Given the description of an element on the screen output the (x, y) to click on. 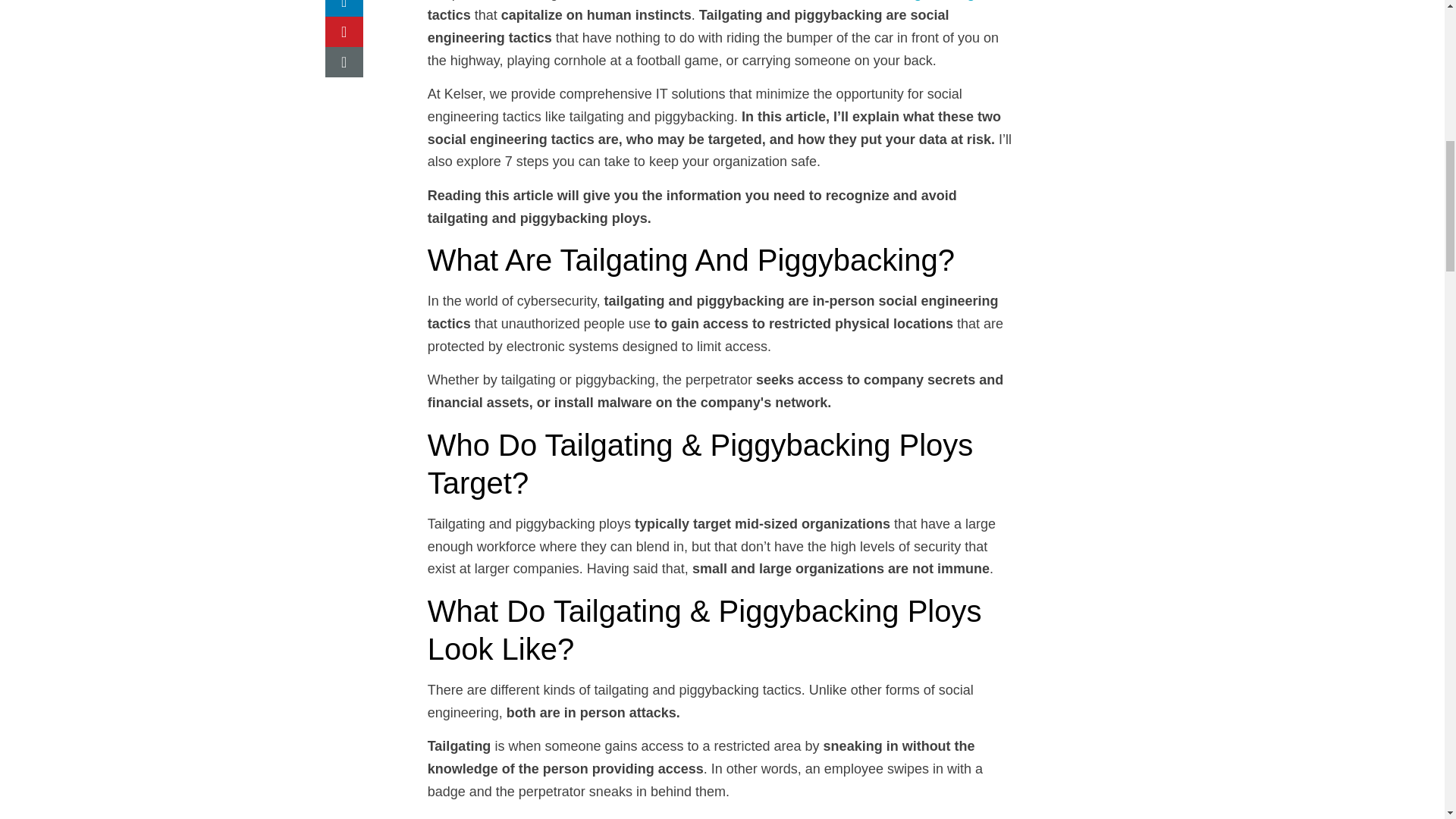
Share via Email (343, 61)
Share on Linkedin (343, 8)
Share: (362, 38)
